Given the description of an element on the screen output the (x, y) to click on. 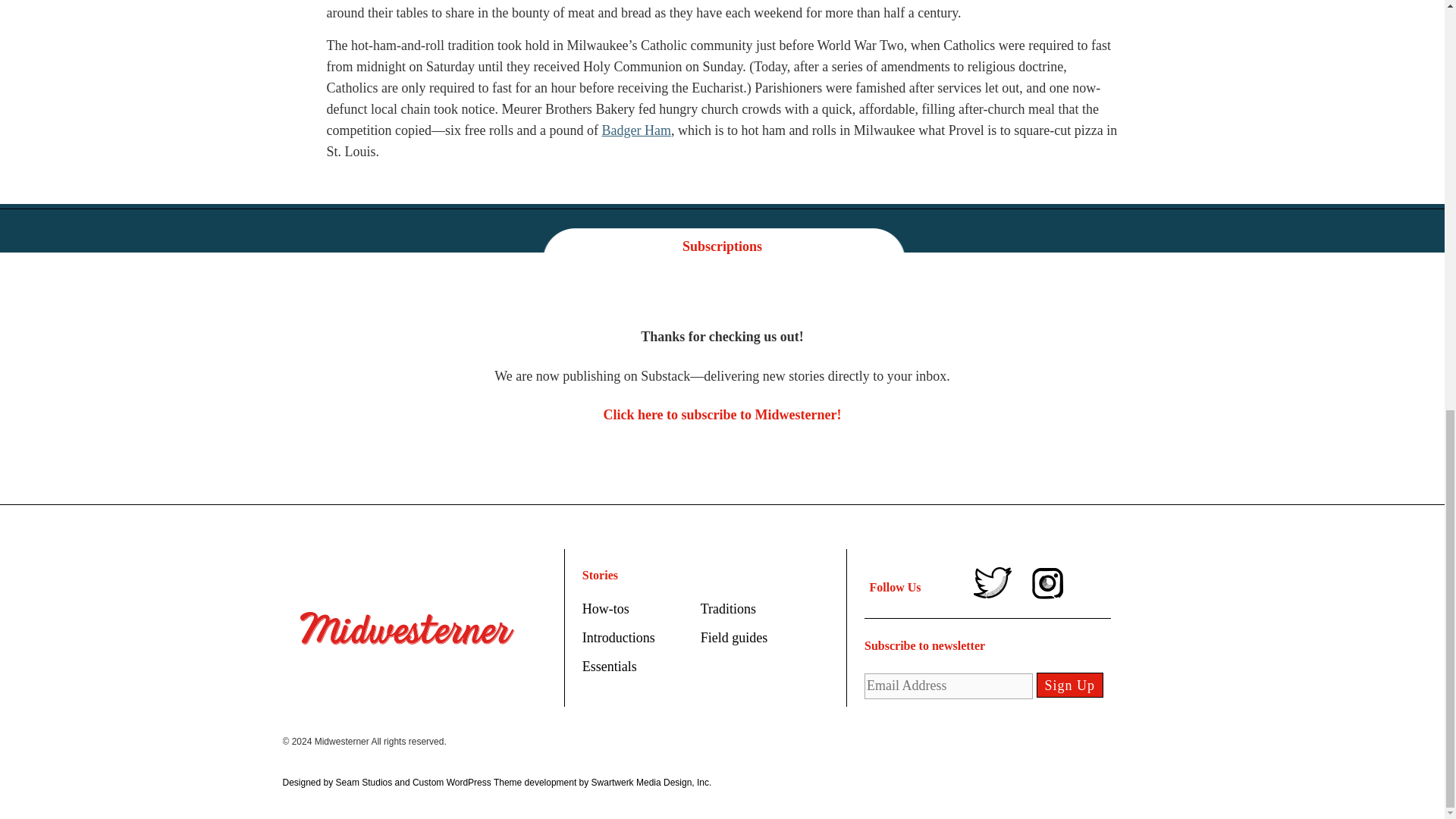
How-tos (605, 608)
Sign Up (1069, 684)
Sign Up (1069, 684)
Click here to subscribe to Midwesterner! (721, 414)
Badger Ham (635, 130)
Designed by Seam Studios (336, 782)
Essentials (609, 666)
Field guides (734, 637)
Traditions (727, 608)
